Given the description of an element on the screen output the (x, y) to click on. 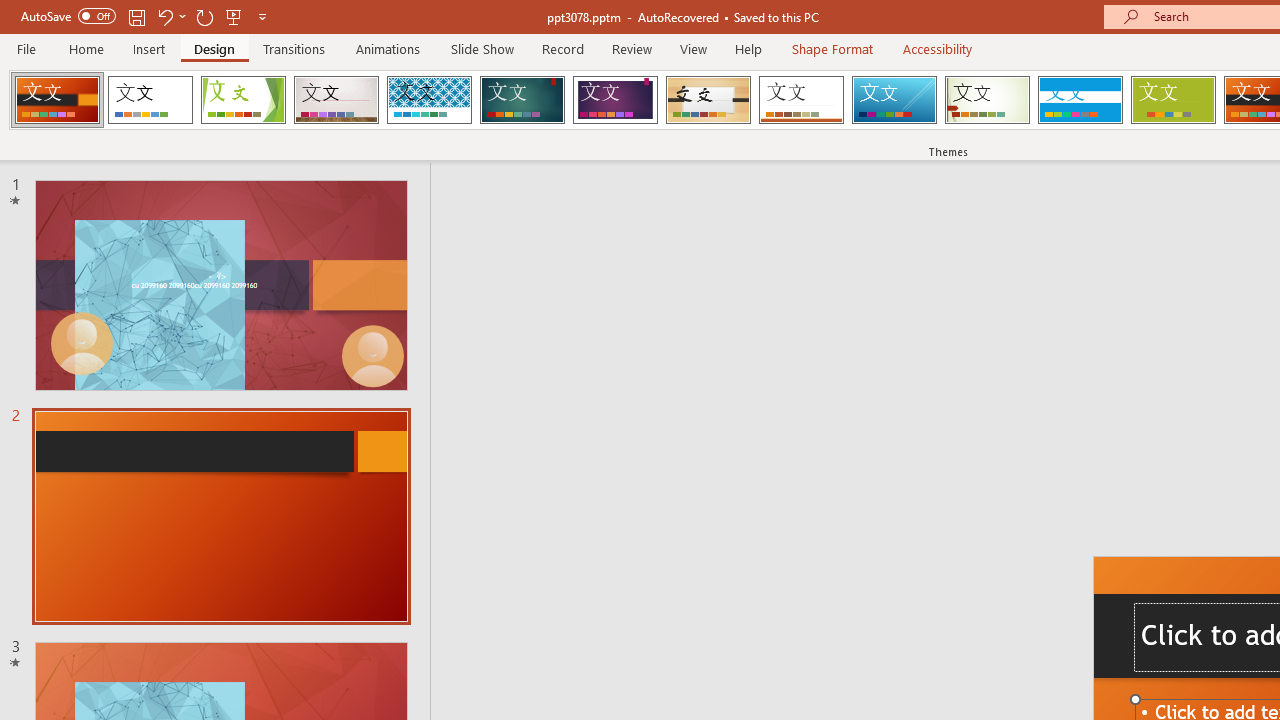
Office Theme (150, 100)
Organic (708, 100)
Integral (429, 100)
Wisp (987, 100)
Gallery (336, 100)
Shape Format (832, 48)
